Given the description of an element on the screen output the (x, y) to click on. 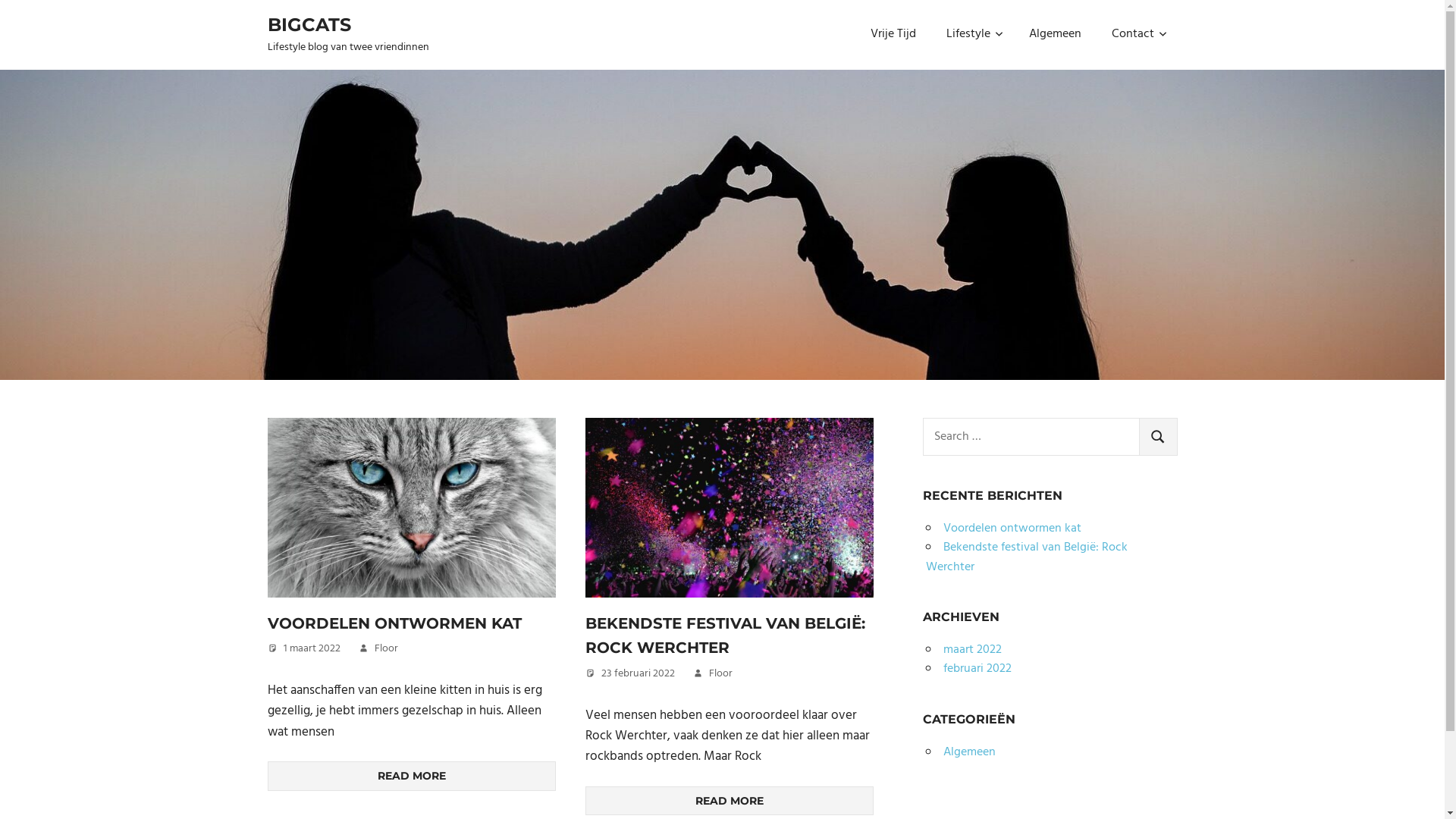
maart 2022 Element type: text (972, 649)
februari 2022 Element type: text (977, 668)
READ MORE Element type: text (729, 800)
SEARCH Element type: text (1158, 436)
Vrije Tijd Element type: text (893, 34)
1 maart 2022 Element type: text (311, 648)
Algemeen Element type: text (969, 752)
Voordelen ontwormen kat Element type: text (1012, 528)
Contact Element type: text (1136, 34)
READ MORE Element type: text (410, 775)
BIGCATS Element type: text (308, 24)
Algemeen Element type: text (1054, 34)
Floor Element type: text (719, 673)
Search for: Element type: hover (1030, 436)
23 februari 2022 Element type: text (637, 673)
VOORDELEN ONTWORMEN KAT Element type: text (393, 623)
Lifestyle Element type: text (972, 34)
Floor Element type: text (386, 648)
